Given the description of an element on the screen output the (x, y) to click on. 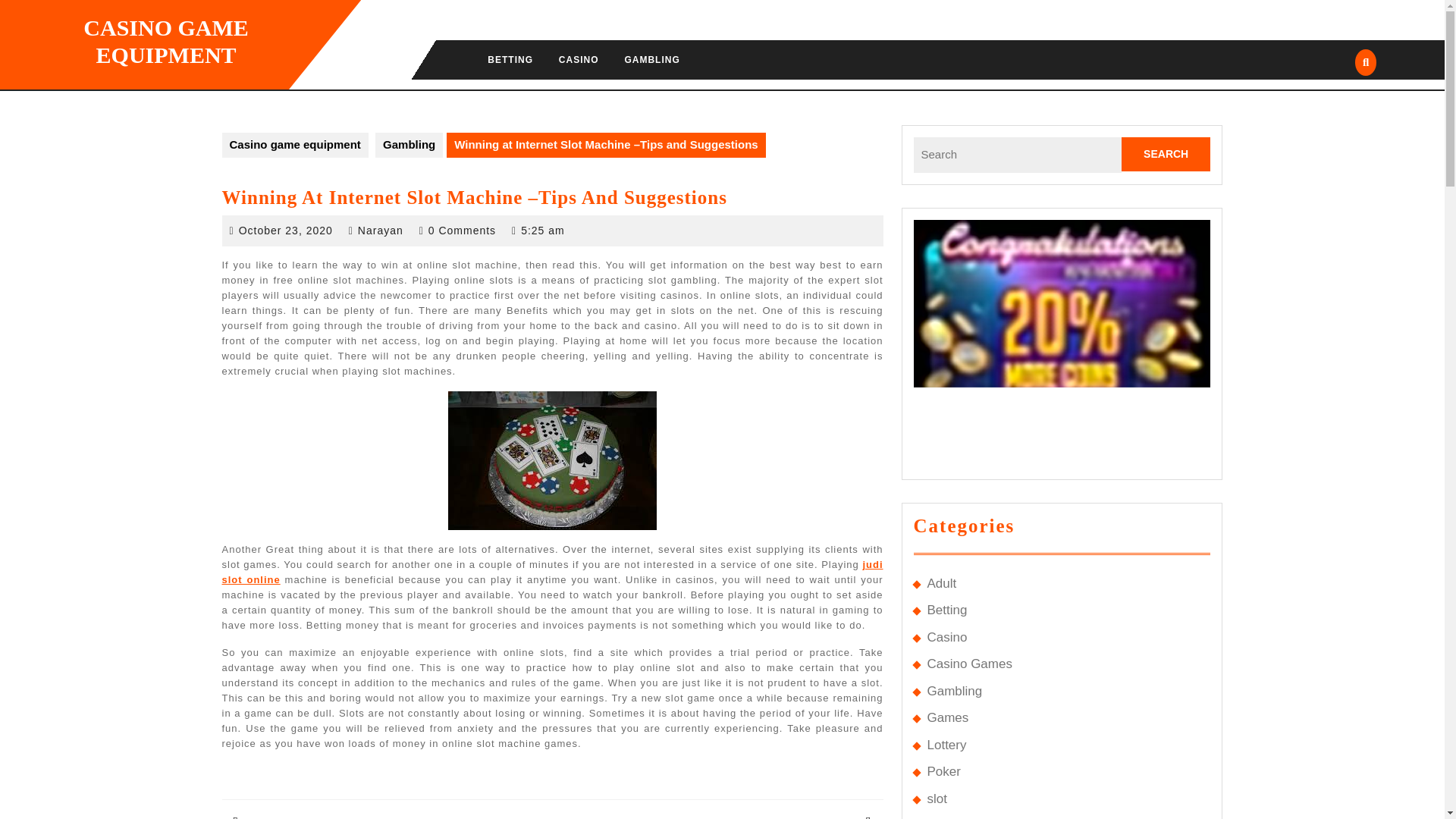
Adult (941, 583)
slot (386, 786)
Gambling (936, 798)
BETTING (953, 690)
CASINO (510, 59)
Casino (578, 59)
Poker (946, 636)
Gambling (942, 771)
Casino game equipment (408, 145)
